Given the description of an element on the screen output the (x, y) to click on. 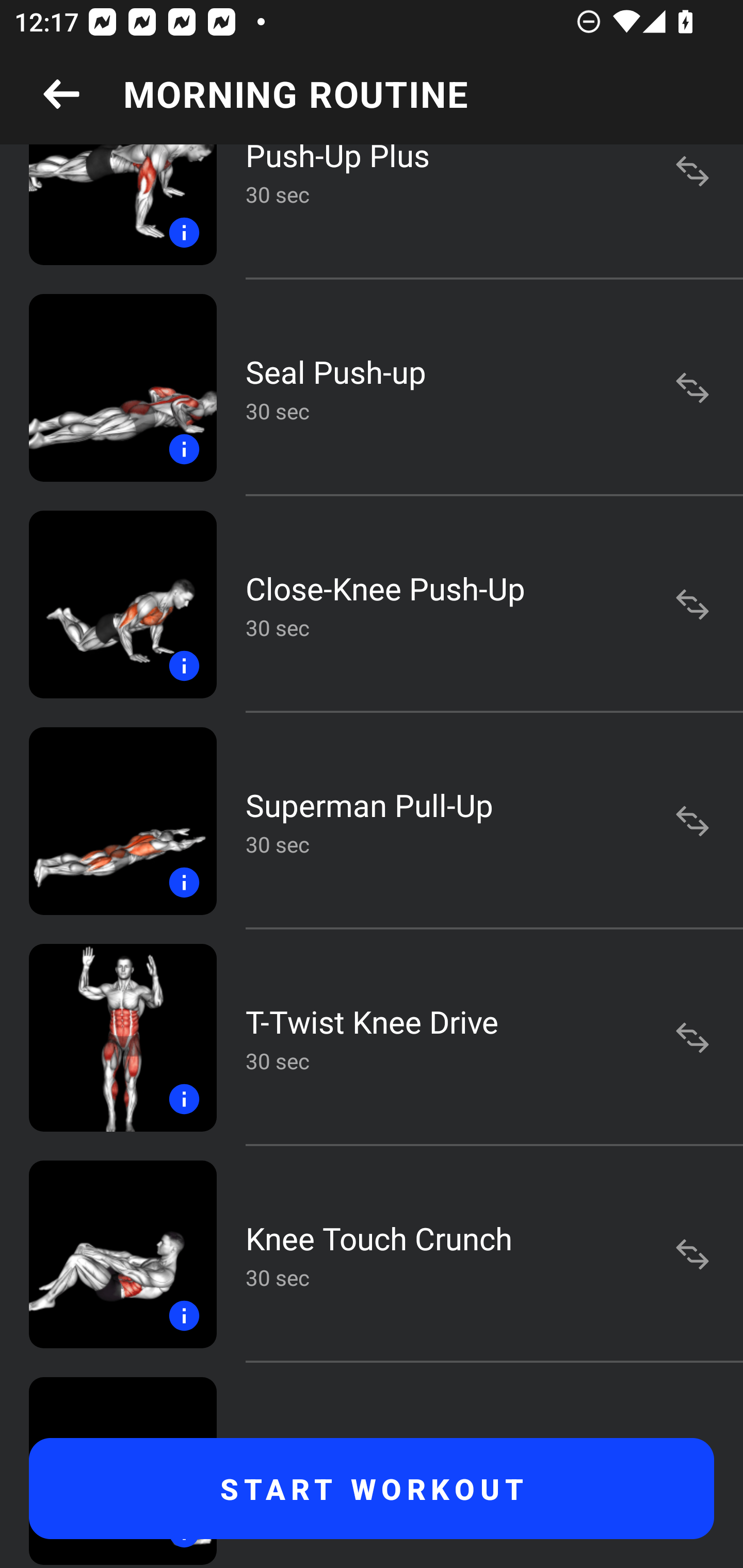
Push-Up Plus 30 sec (371, 211)
Seal Push-up 30 sec (371, 387)
Close-Knee Push-Up 30 sec (371, 604)
Superman Pull-Up 30 sec (371, 821)
T-Twist Knee Drive 30 sec (371, 1037)
Knee Touch Crunch 30 sec (371, 1254)
START WORKOUT (371, 1488)
